Given the description of an element on the screen output the (x, y) to click on. 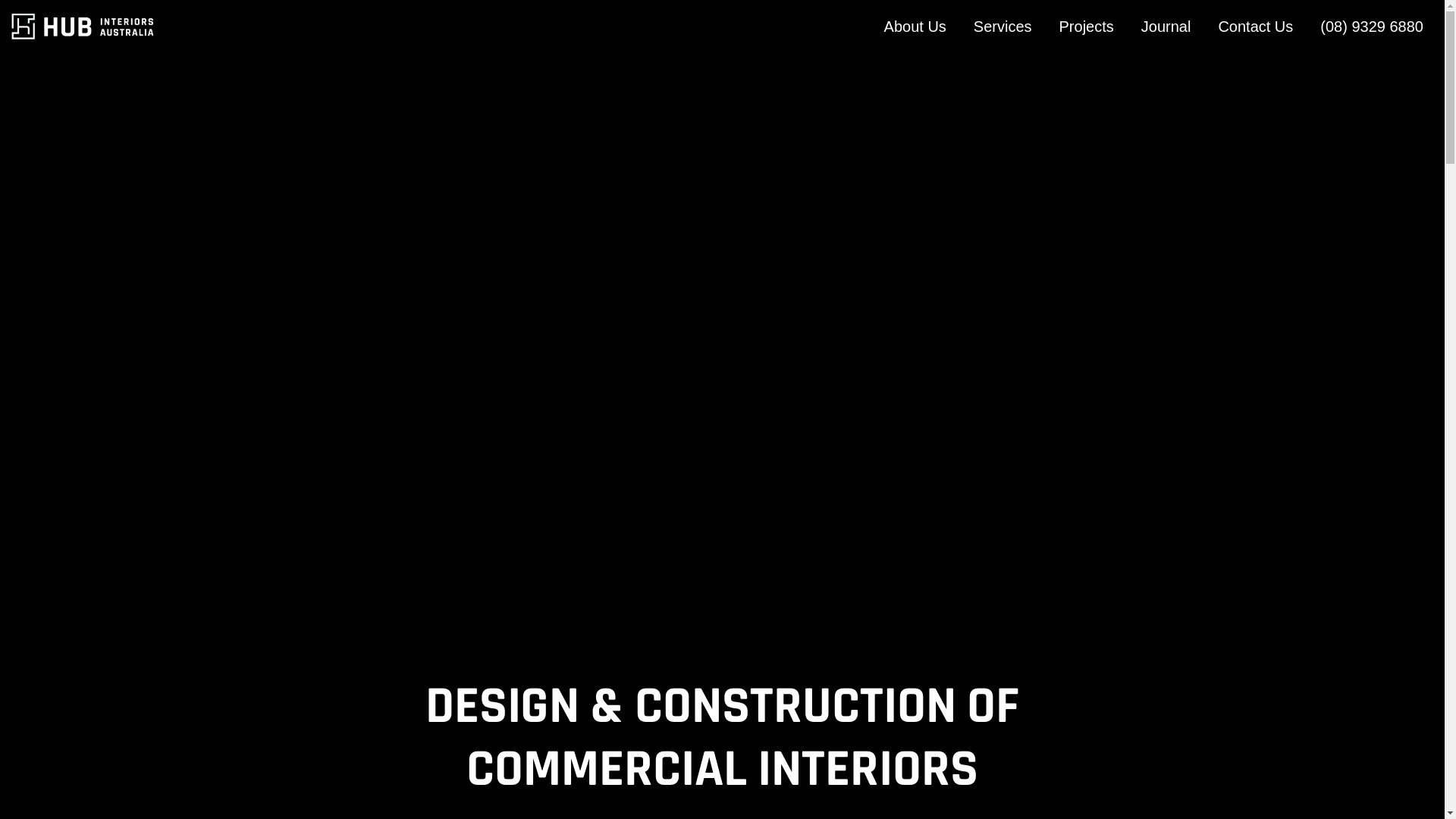
Services Element type: text (1002, 26)
About Us Element type: text (915, 26)
Contact Us Element type: text (1255, 26)
Journal Element type: text (1165, 26)
Projects Element type: text (1086, 26)
(08) 9329 6880 Element type: text (1371, 26)
Hub Interiors Element type: hover (82, 26)
